Given the description of an element on the screen output the (x, y) to click on. 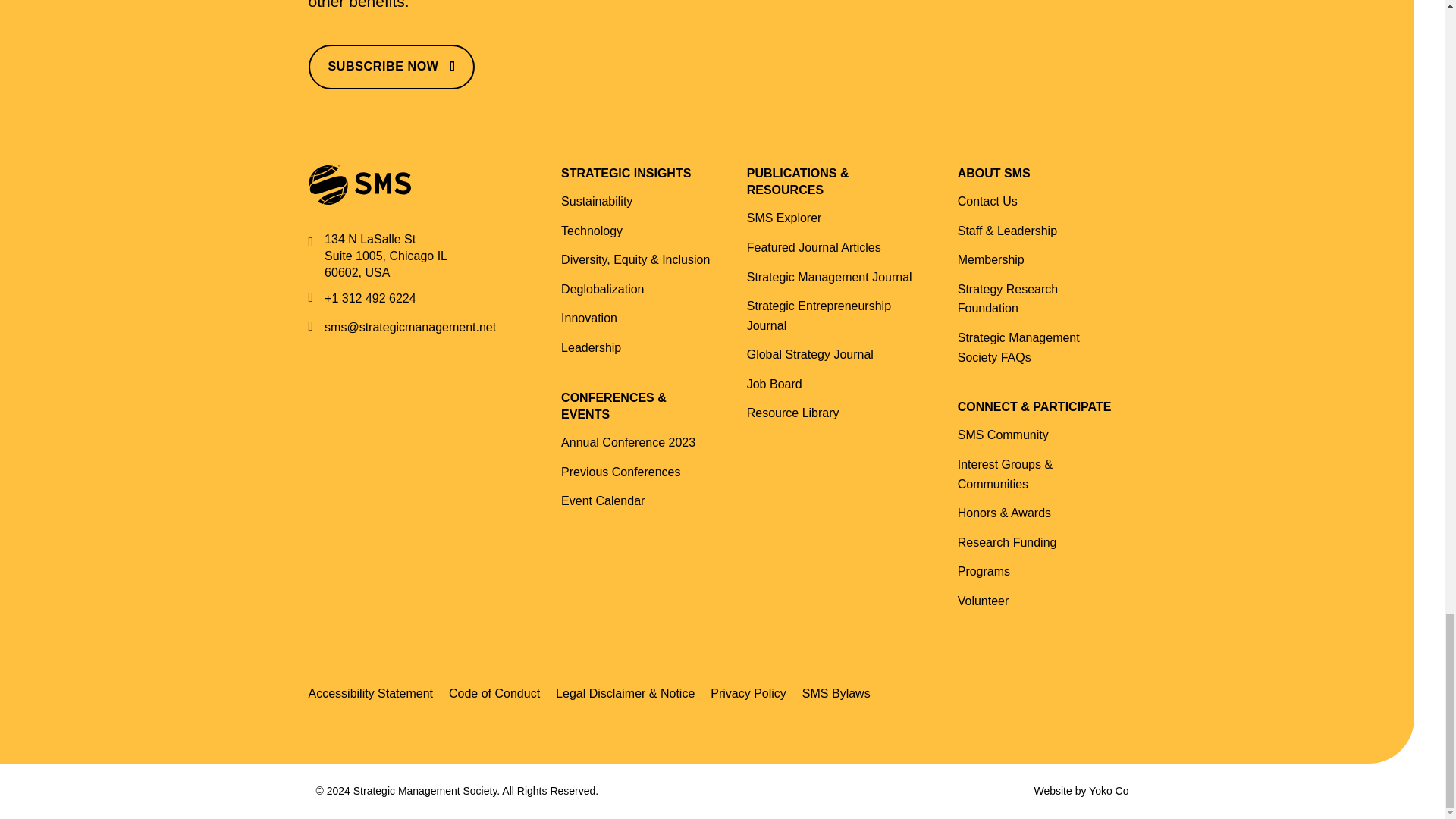
black-logo-sms (355, 171)
